Given the description of an element on the screen output the (x, y) to click on. 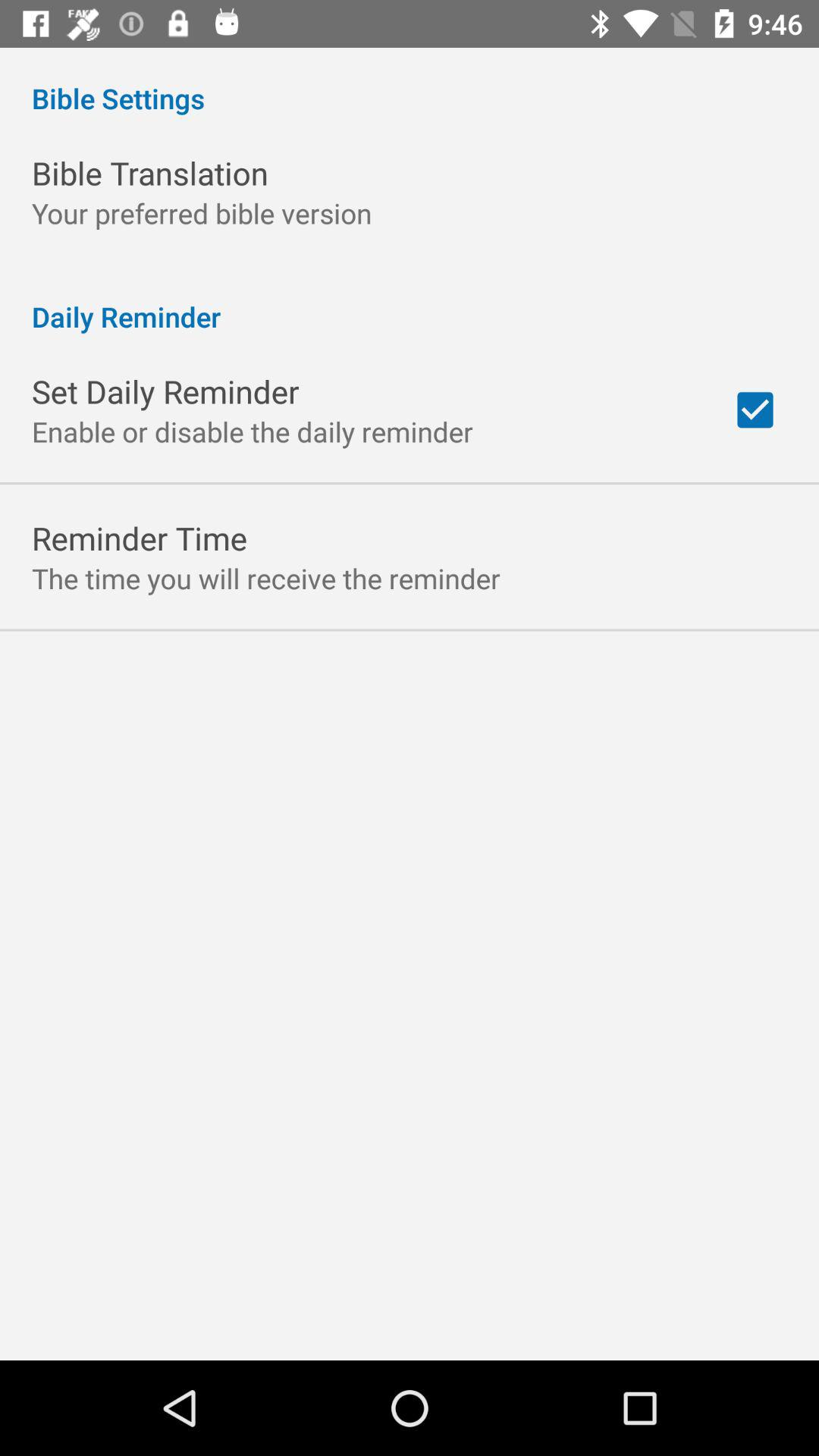
scroll to the your preferred bible icon (201, 213)
